Given the description of an element on the screen output the (x, y) to click on. 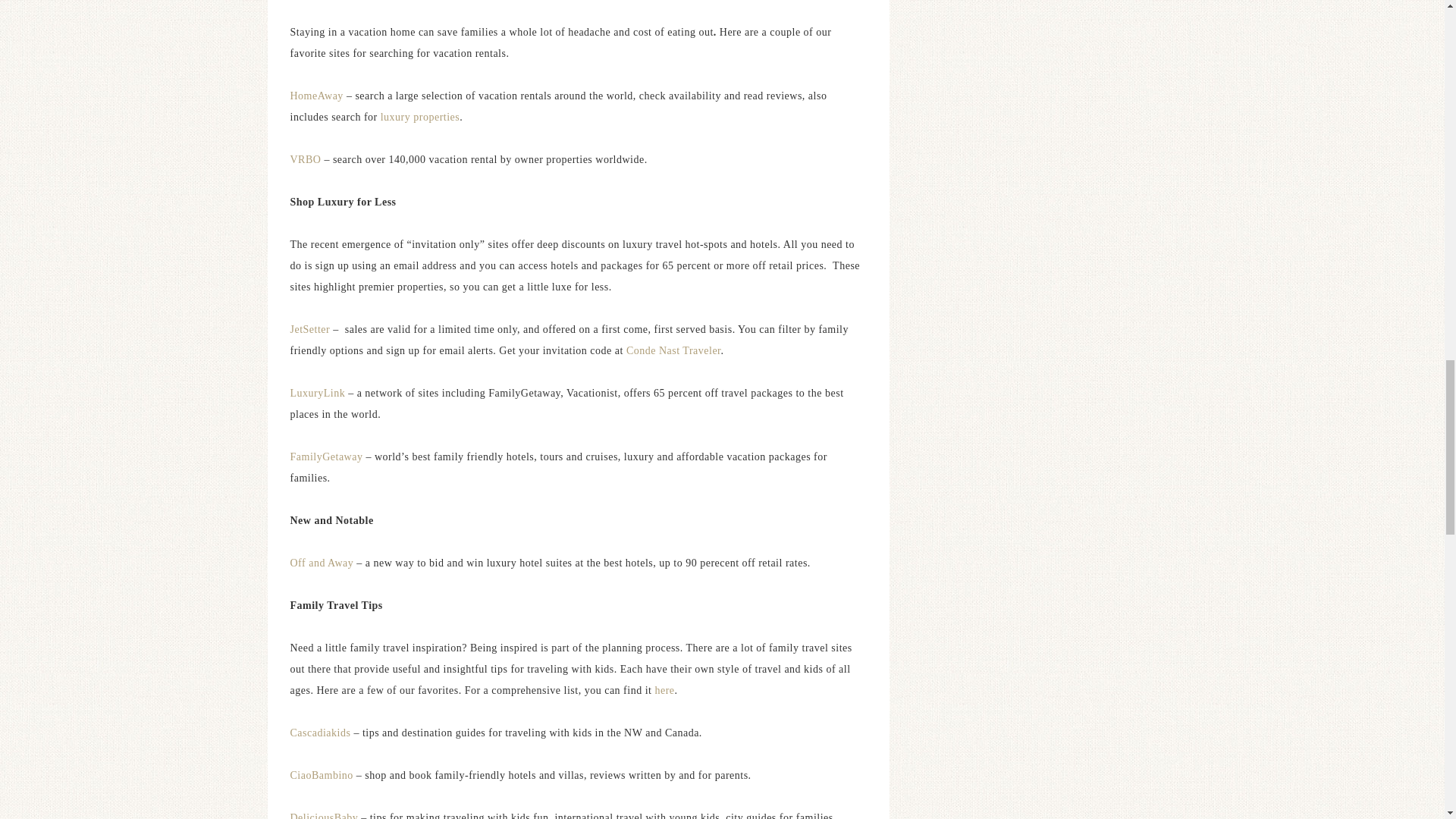
CiaoBambino (320, 775)
FamilyGetaway (325, 456)
HomeAway (317, 95)
Cascadiakids (319, 732)
Conde Nast Traveler (673, 350)
here (663, 690)
JetSetter (309, 328)
luxury properties (420, 116)
VRBO (304, 159)
LuxuryLink (317, 392)
DeliciousBaby (323, 815)
Off and Away (321, 562)
